Given the description of an element on the screen output the (x, y) to click on. 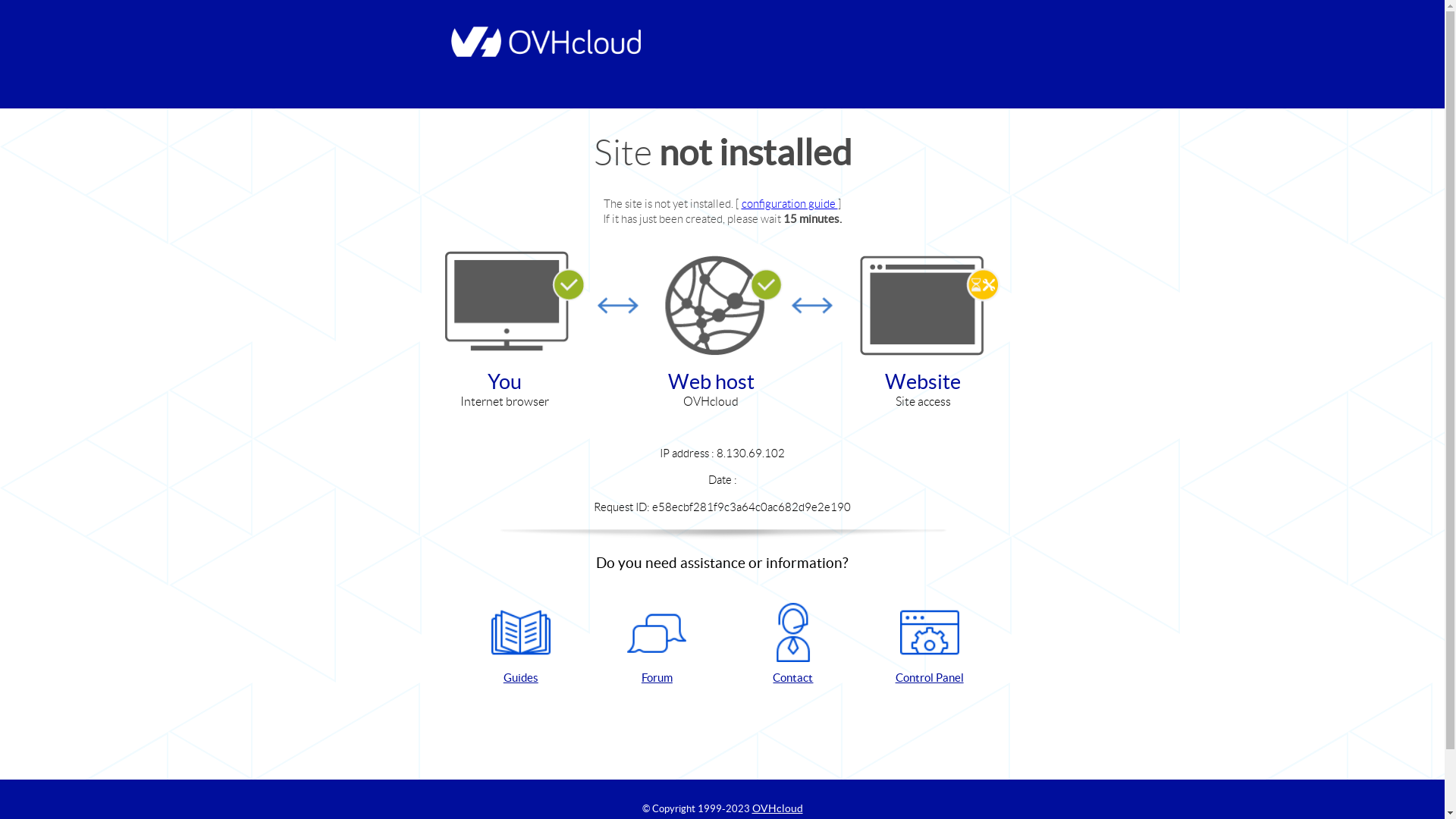
Guides Element type: text (520, 644)
Forum Element type: text (656, 644)
configuration guide Element type: text (789, 203)
OVHcloud Element type: text (777, 808)
Contact Element type: text (792, 644)
Control Panel Element type: text (929, 644)
